Given the description of an element on the screen output the (x, y) to click on. 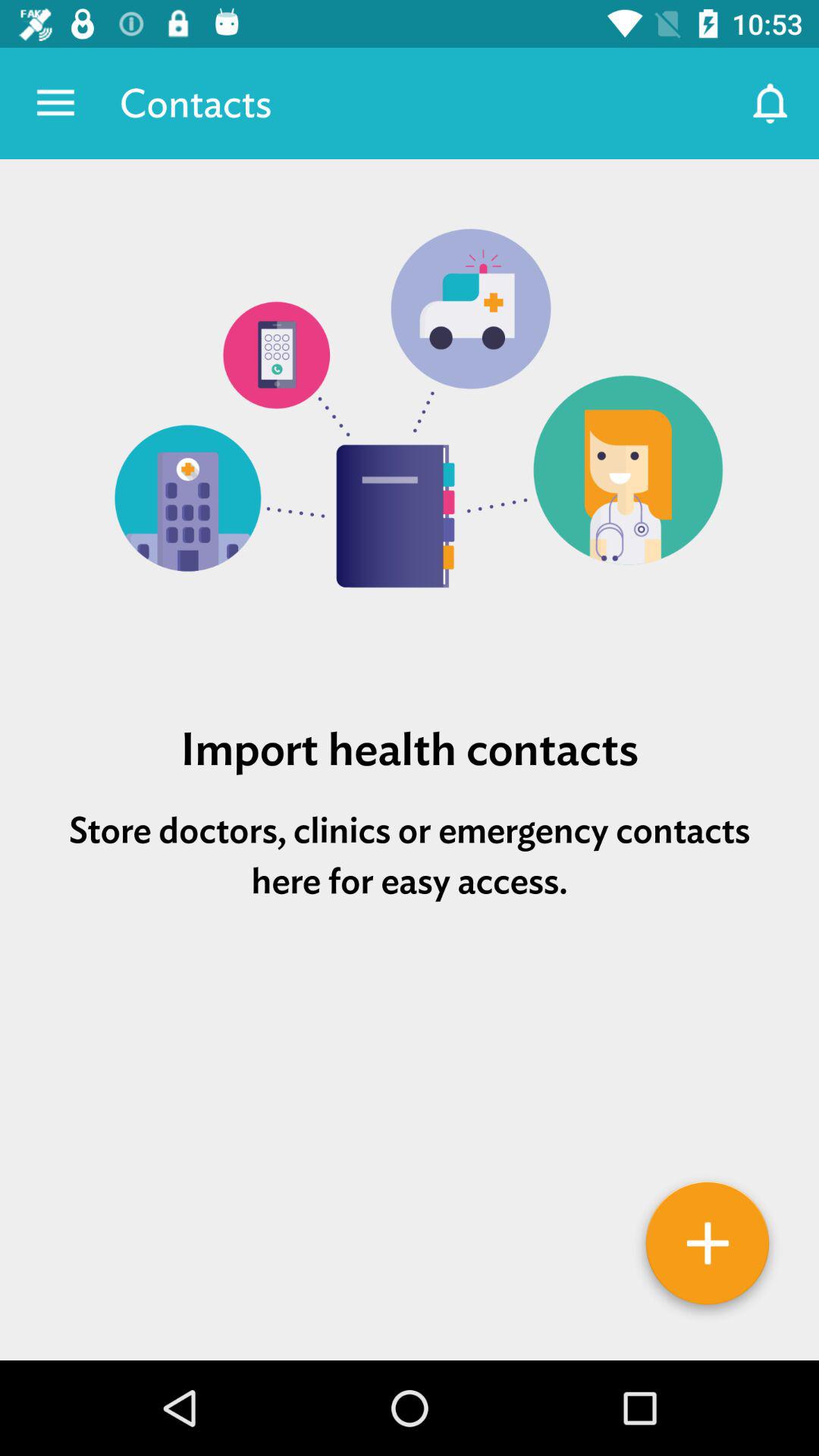
swipe to the store doctors clinics icon (409, 855)
